Given the description of an element on the screen output the (x, y) to click on. 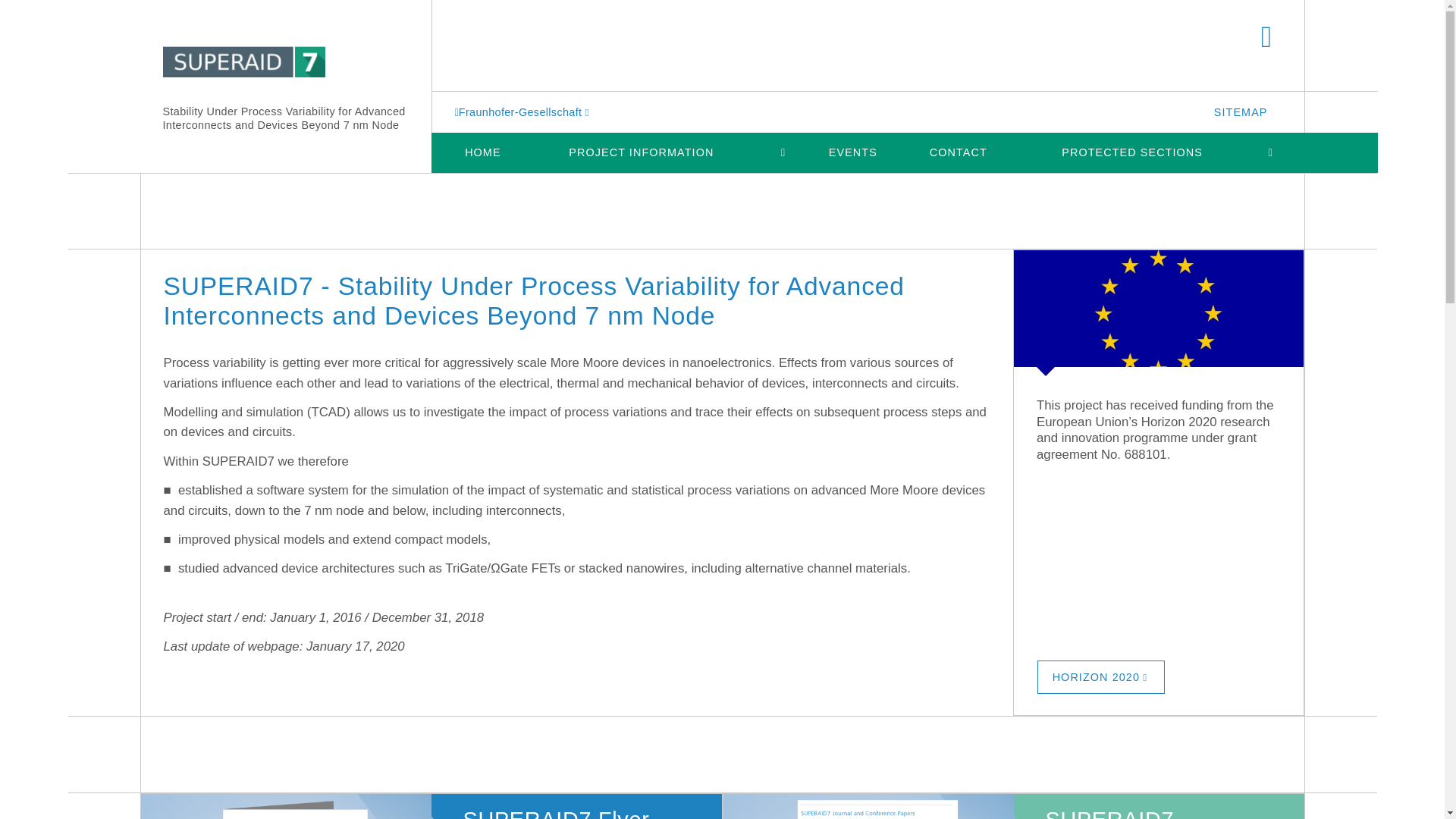
horizon 2020 (1100, 676)
Flyer (295, 806)
CONTACT (957, 151)
SITEMAP (1240, 111)
PROJECT INFORMATION (641, 151)
SEARCH (1266, 37)
PROTECTED SECTIONS (1131, 151)
Fraunhofer-Gesellschaft (523, 111)
HOME (482, 151)
